Given the description of an element on the screen output the (x, y) to click on. 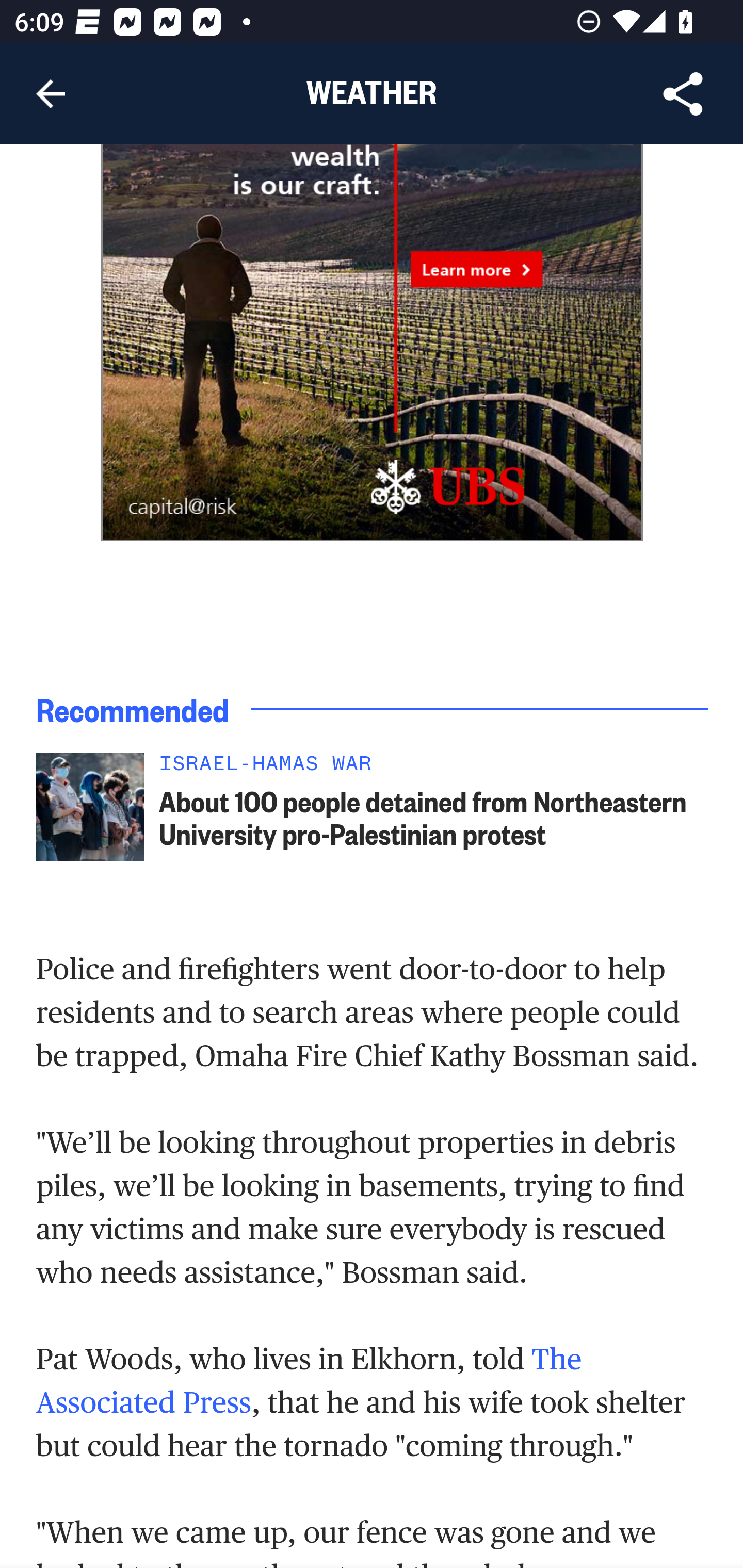
Navigate up (50, 93)
Share Article, button (683, 94)
ISRAEL-HAMAS WAR (434, 769)
The Associated Press (309, 1380)
